Given the description of an element on the screen output the (x, y) to click on. 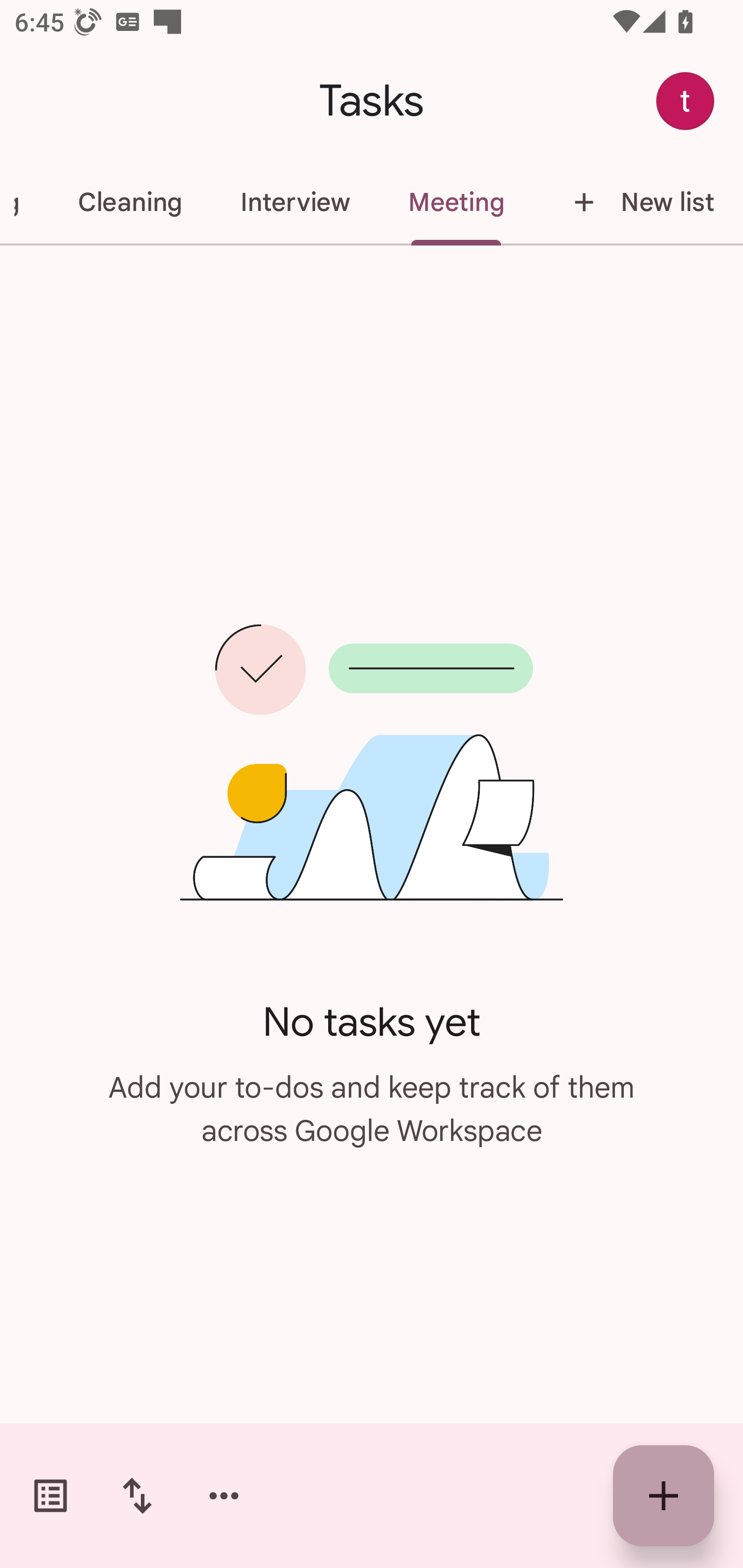
Cleaning (129, 202)
Interview (294, 202)
New list (638, 202)
Switch task lists (50, 1495)
Create new task (663, 1495)
Change sort order (136, 1495)
More options (223, 1495)
